Given the description of an element on the screen output the (x, y) to click on. 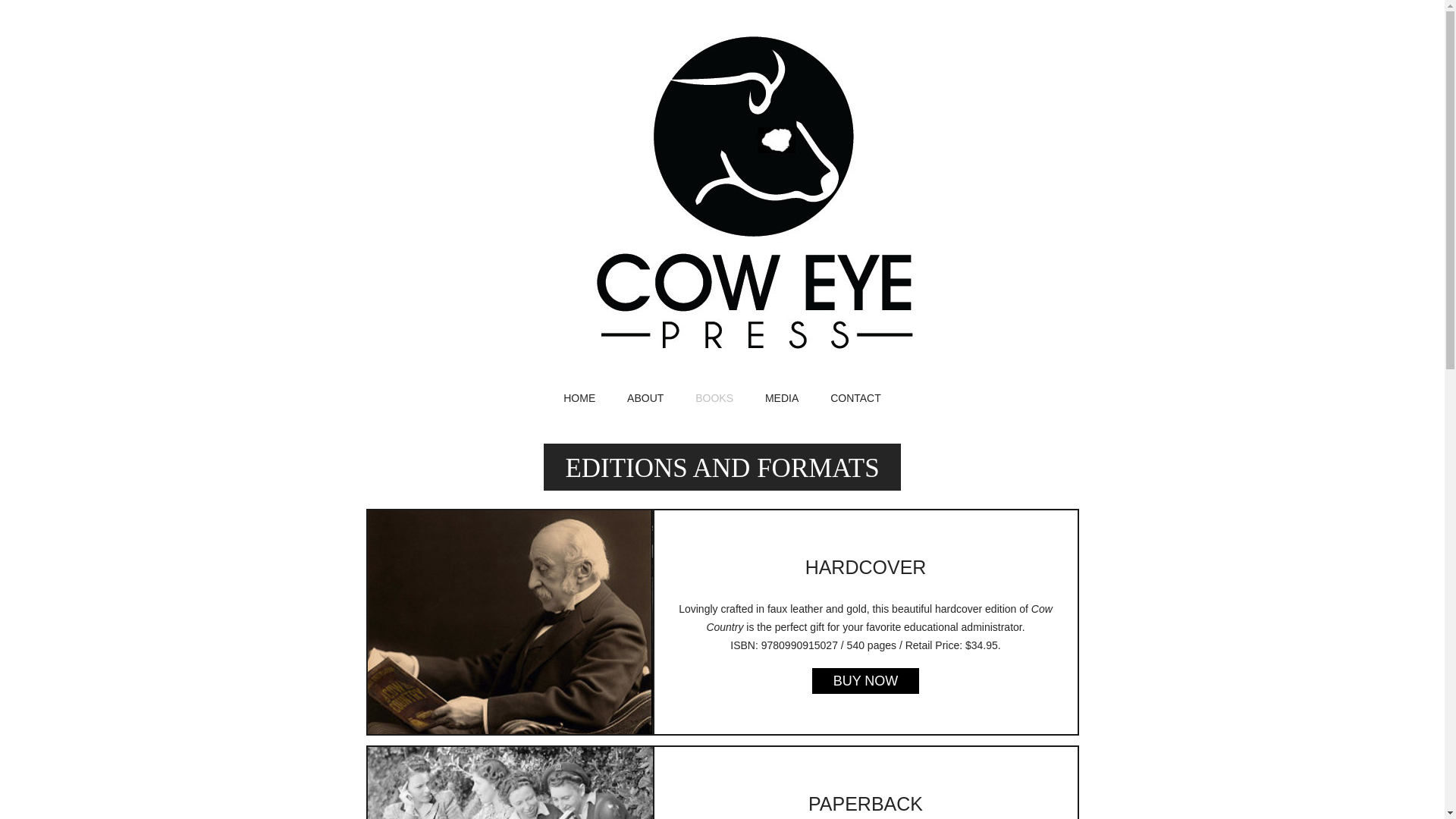
BOOKS (714, 399)
MEDIA (781, 399)
CONTACT (854, 399)
BUY NOW (866, 680)
ABOUT (645, 399)
HOME (579, 399)
